Given the description of an element on the screen output the (x, y) to click on. 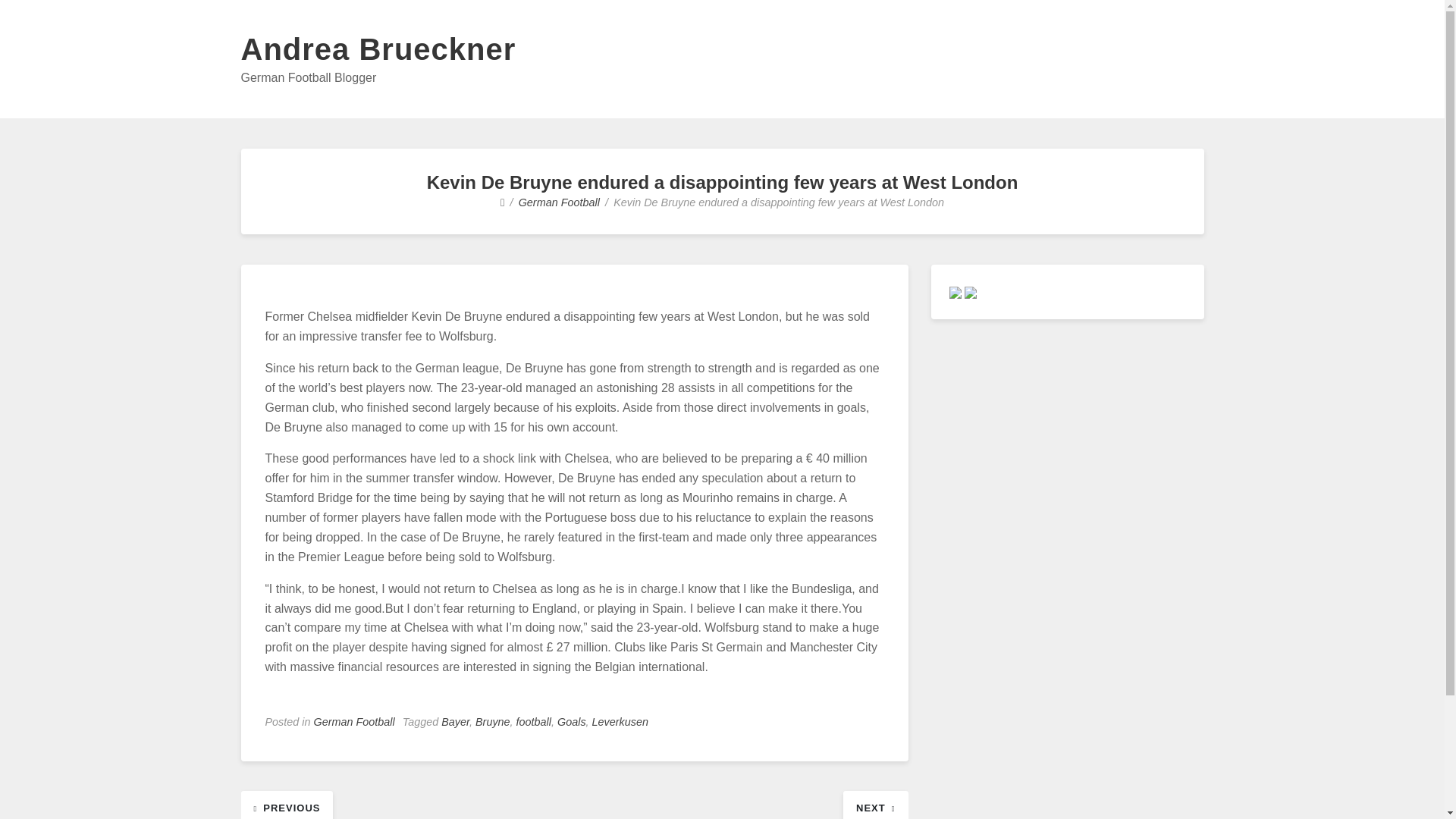
German Football (354, 721)
Leverkusen (619, 721)
Andrea Brueckner (378, 49)
Bayer (454, 721)
German Football (558, 202)
NEXT (875, 807)
PREVIOUS (287, 807)
Goals (571, 721)
football (533, 721)
Bruyne (493, 721)
